Given the description of an element on the screen output the (x, y) to click on. 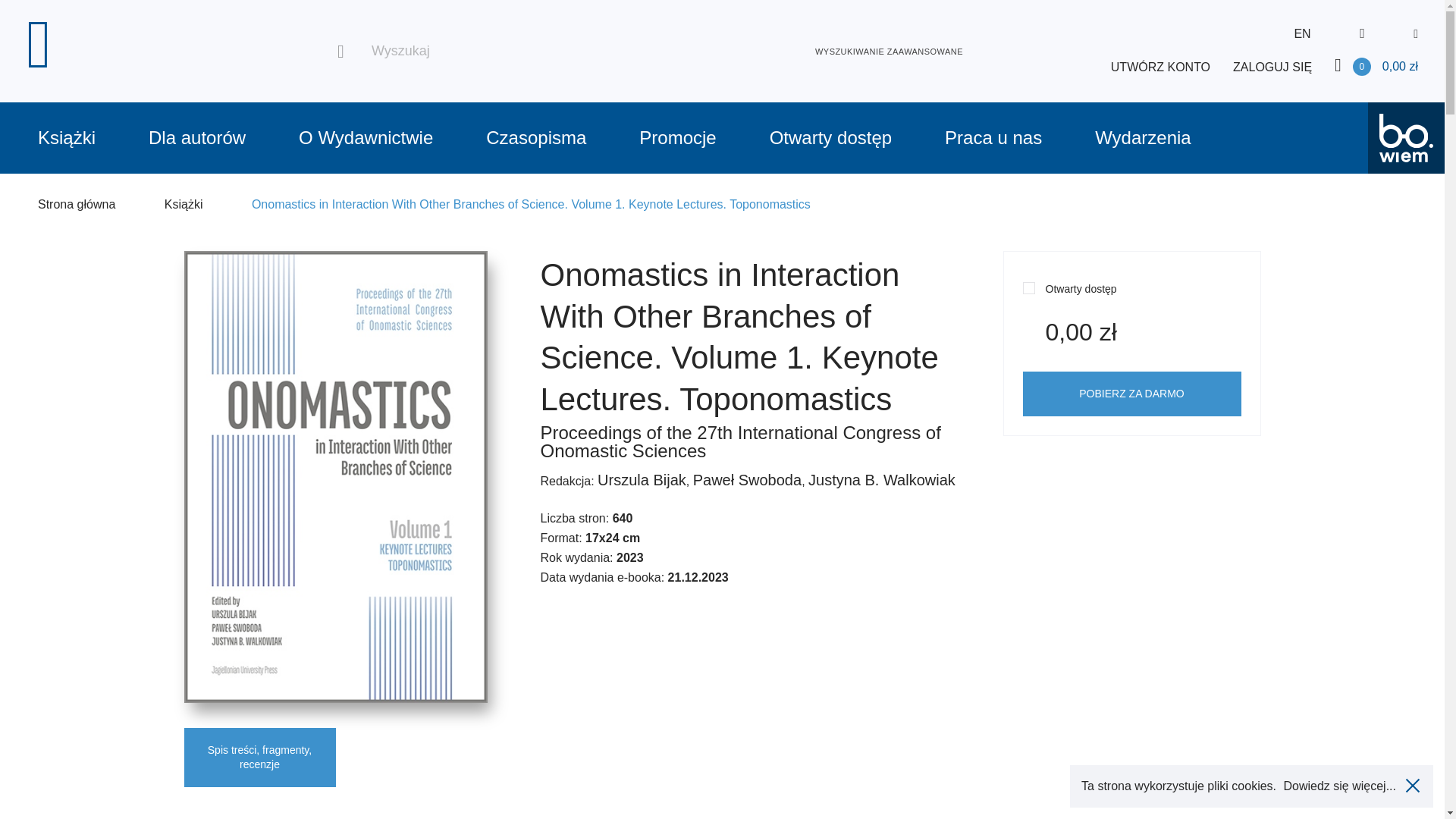
EN (1302, 33)
WYSZUKIWANIE ZAAWANSOWANE (888, 50)
